Given the description of an element on the screen output the (x, y) to click on. 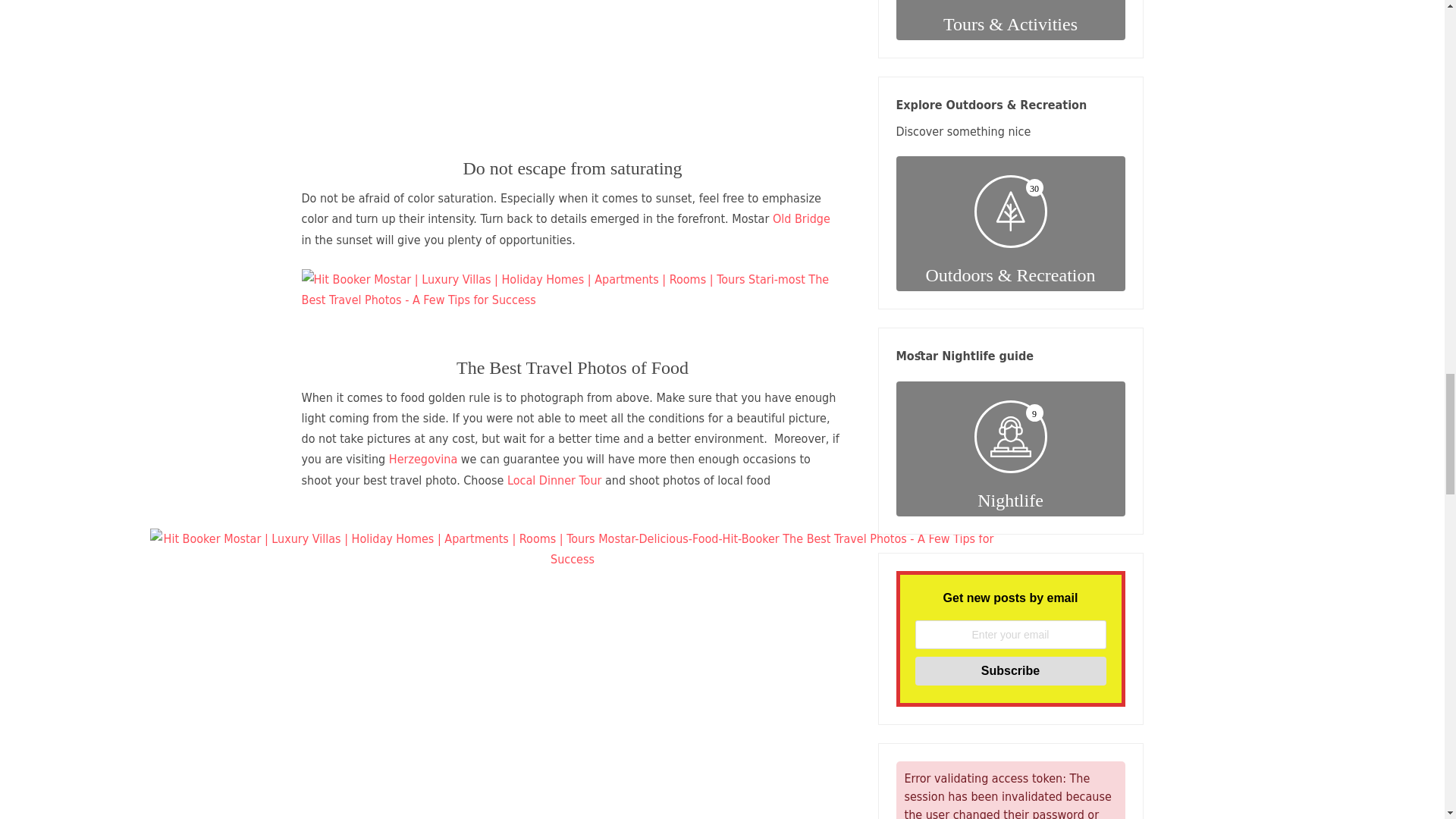
Local Dinner Tour (553, 480)
Old Bridge (801, 218)
Subscribe (1009, 670)
Herzegovina (422, 459)
